Given the description of an element on the screen output the (x, y) to click on. 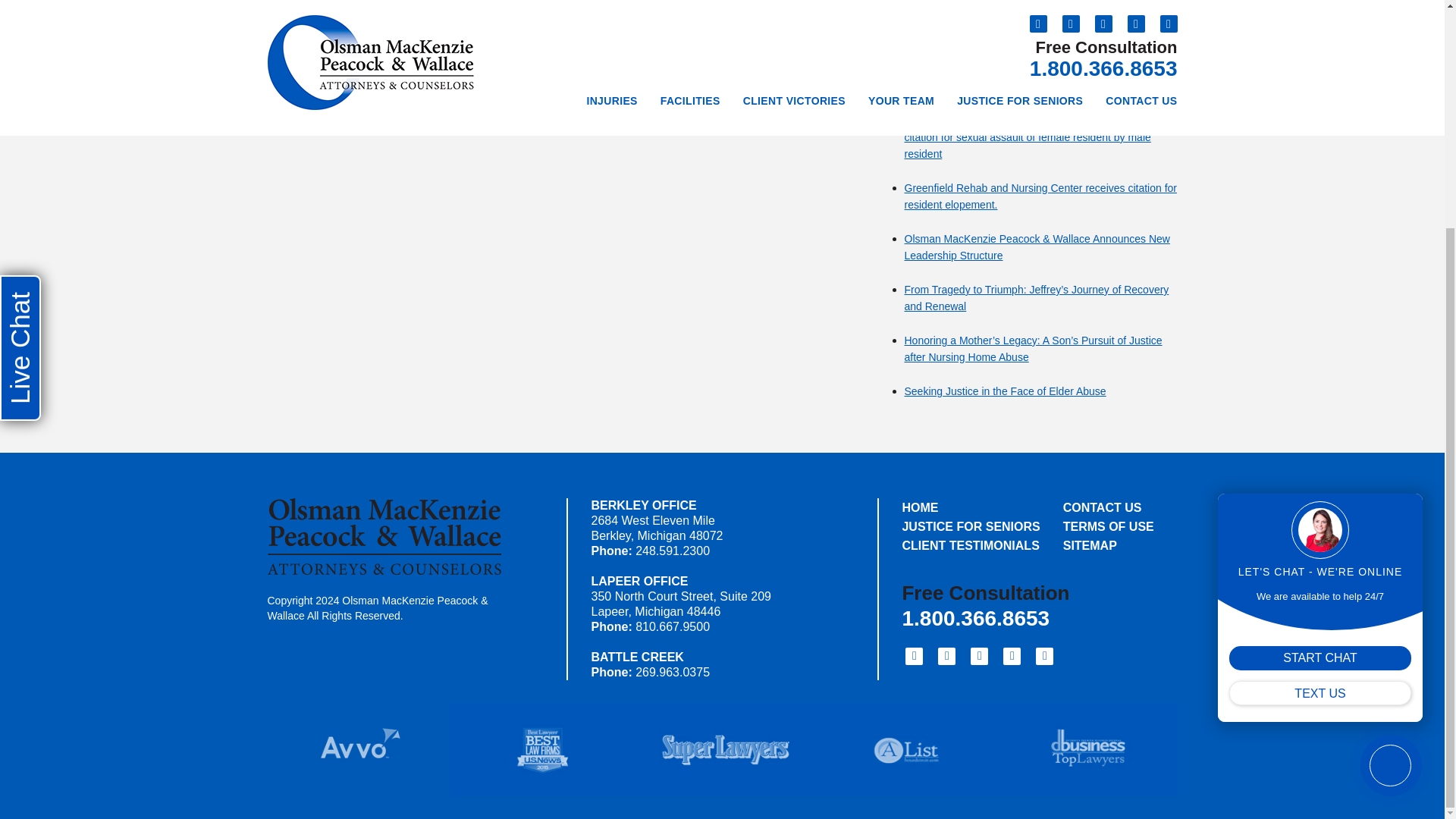
SiteMap (1108, 545)
Justice for Seniors (970, 526)
Terms of Use (1108, 526)
Home (970, 506)
Contact Us (1108, 506)
Client Testimonials (970, 545)
